Given the description of an element on the screen output the (x, y) to click on. 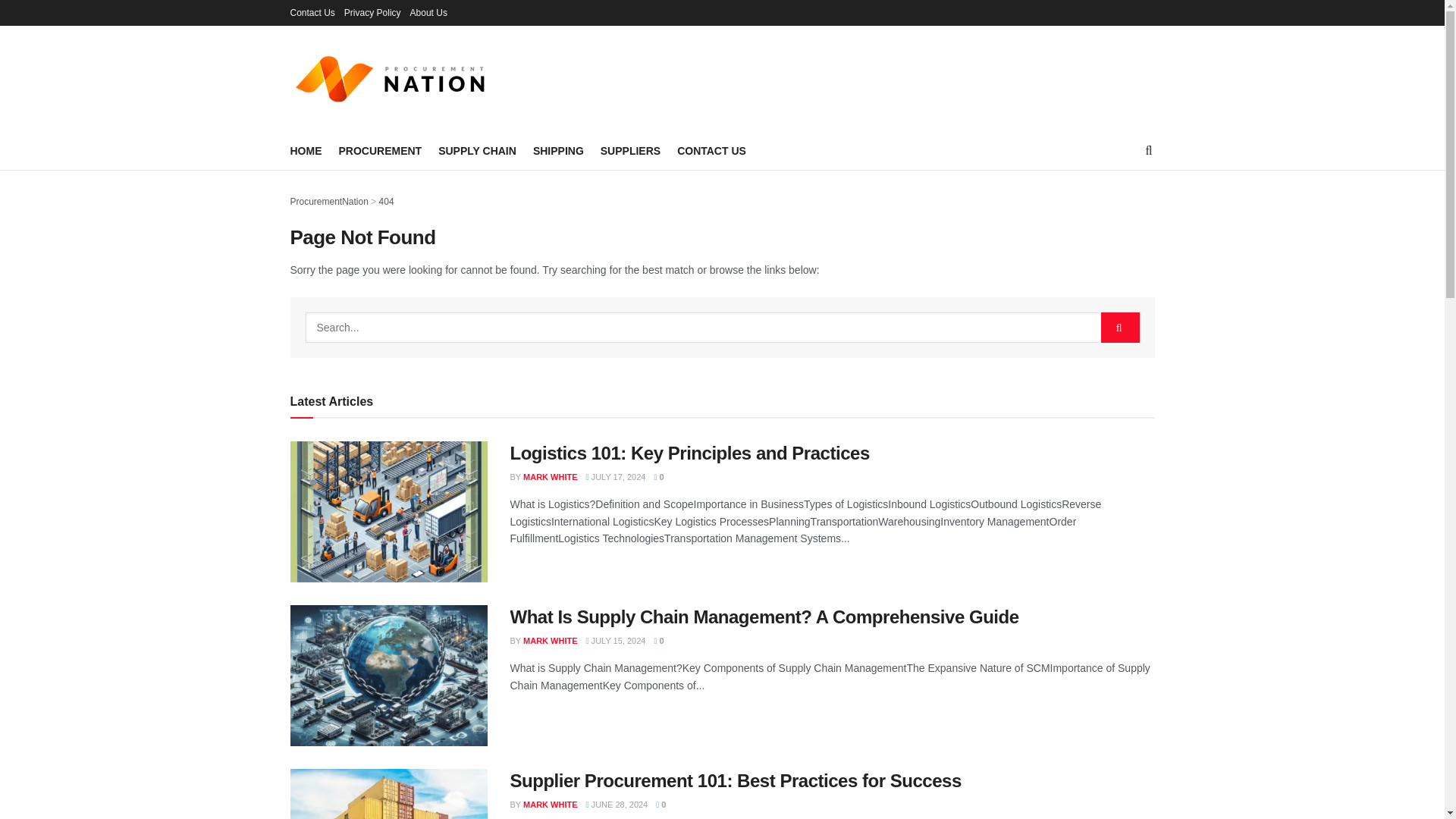
0 (658, 476)
About Us (428, 12)
Supplier Procurement 101: Best Practices for Success (734, 780)
PROCUREMENT (379, 150)
0 (658, 640)
MARK WHITE (550, 476)
Logistics 101: Key Principles and Practices (689, 453)
Contact Us (311, 12)
Go to 404. (386, 201)
SUPPLIERS (630, 150)
Go to ProcurementNation. (328, 201)
SUPPLY CHAIN (477, 150)
Privacy Policy (372, 12)
JULY 15, 2024 (616, 640)
MARK WHITE (550, 804)
